Given the description of an element on the screen output the (x, y) to click on. 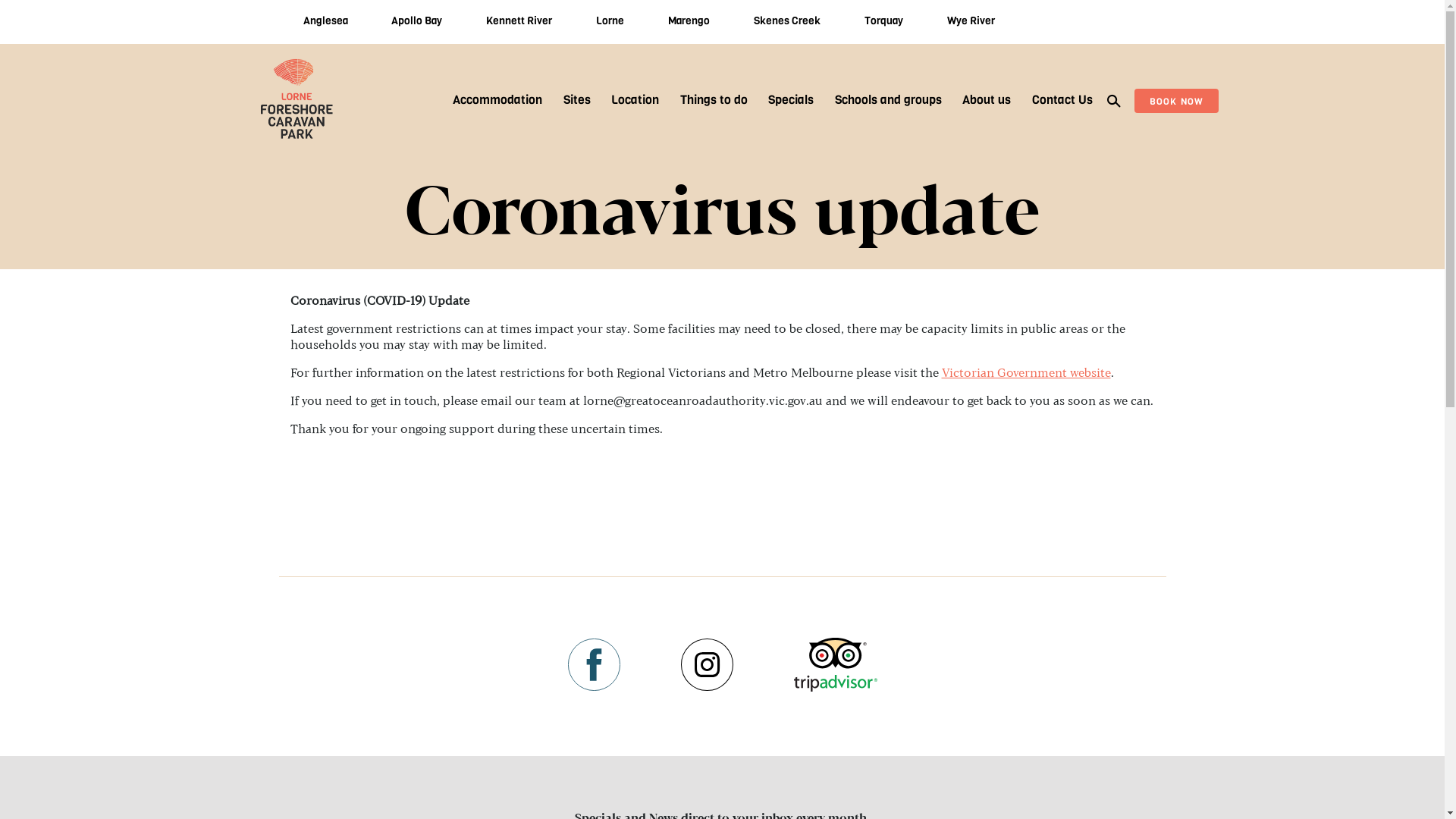
Accommodation Element type: text (497, 99)
Specials Element type: text (790, 99)
Marengo Element type: text (688, 20)
Sites Element type: text (576, 99)
Apollo Bay Element type: text (416, 20)
Torquay Element type: text (883, 20)
Location Element type: text (634, 99)
Skenes Creek Element type: text (786, 20)
BOOK NOW Element type: text (1176, 99)
About us Element type: text (986, 99)
Victorian Government website Element type: text (1025, 373)
Lorne Element type: text (610, 20)
Anglesea Element type: text (325, 20)
Contact Us Element type: text (1062, 99)
Things to do Element type: text (713, 99)
Kennett River Element type: text (519, 20)
Search Element type: text (1113, 99)
Schools and groups Element type: text (887, 99)
Wye River Element type: text (970, 20)
